Given the description of an element on the screen output the (x, y) to click on. 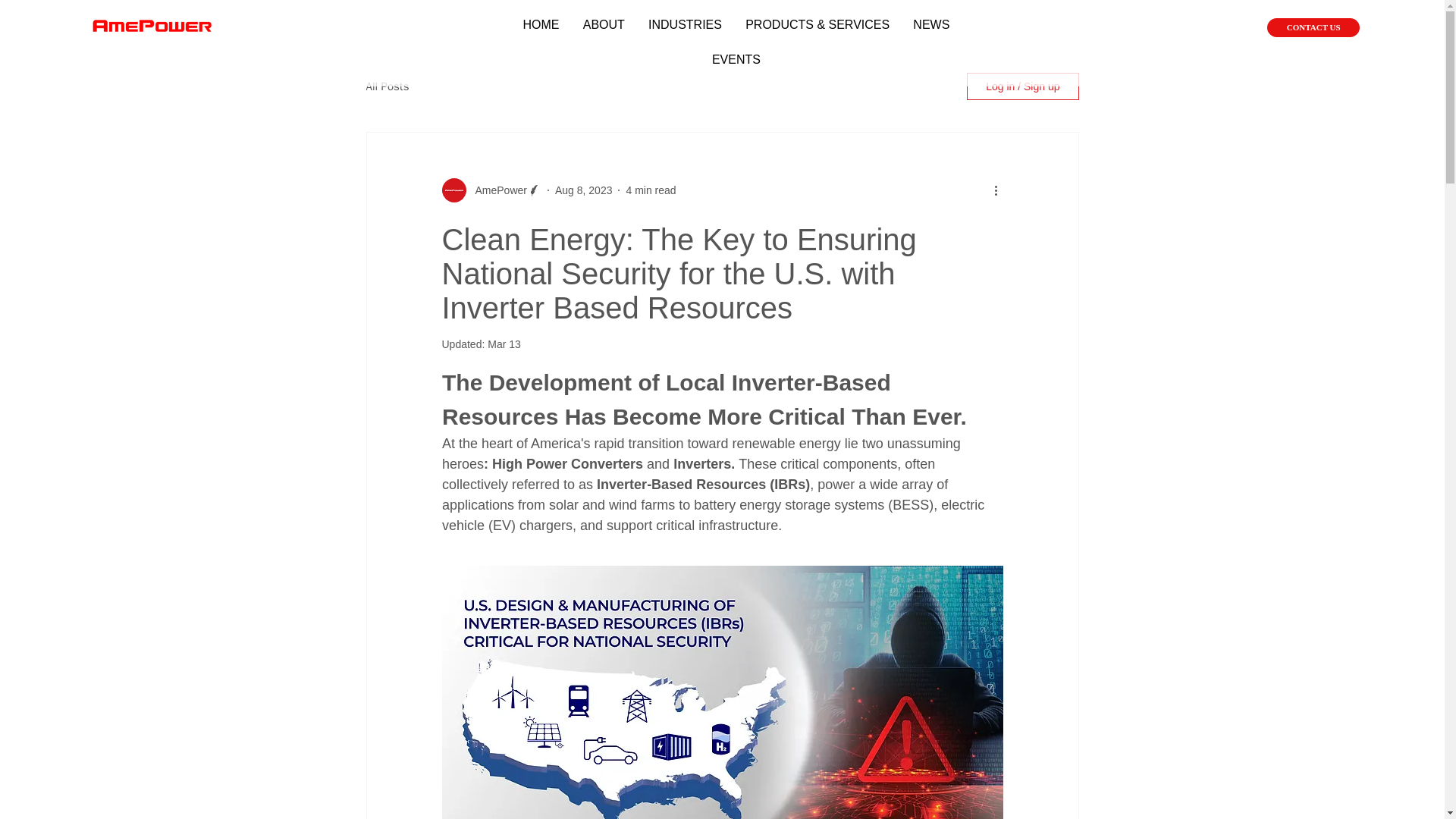
HOME (540, 24)
EVENTS (735, 59)
Aug 8, 2023 (583, 189)
AmePower (495, 189)
Mar 13 (504, 344)
All Posts (387, 85)
4 min read (650, 189)
AmePower home page (151, 26)
NEWS (931, 24)
CONTACT US (1312, 27)
